Given the description of an element on the screen output the (x, y) to click on. 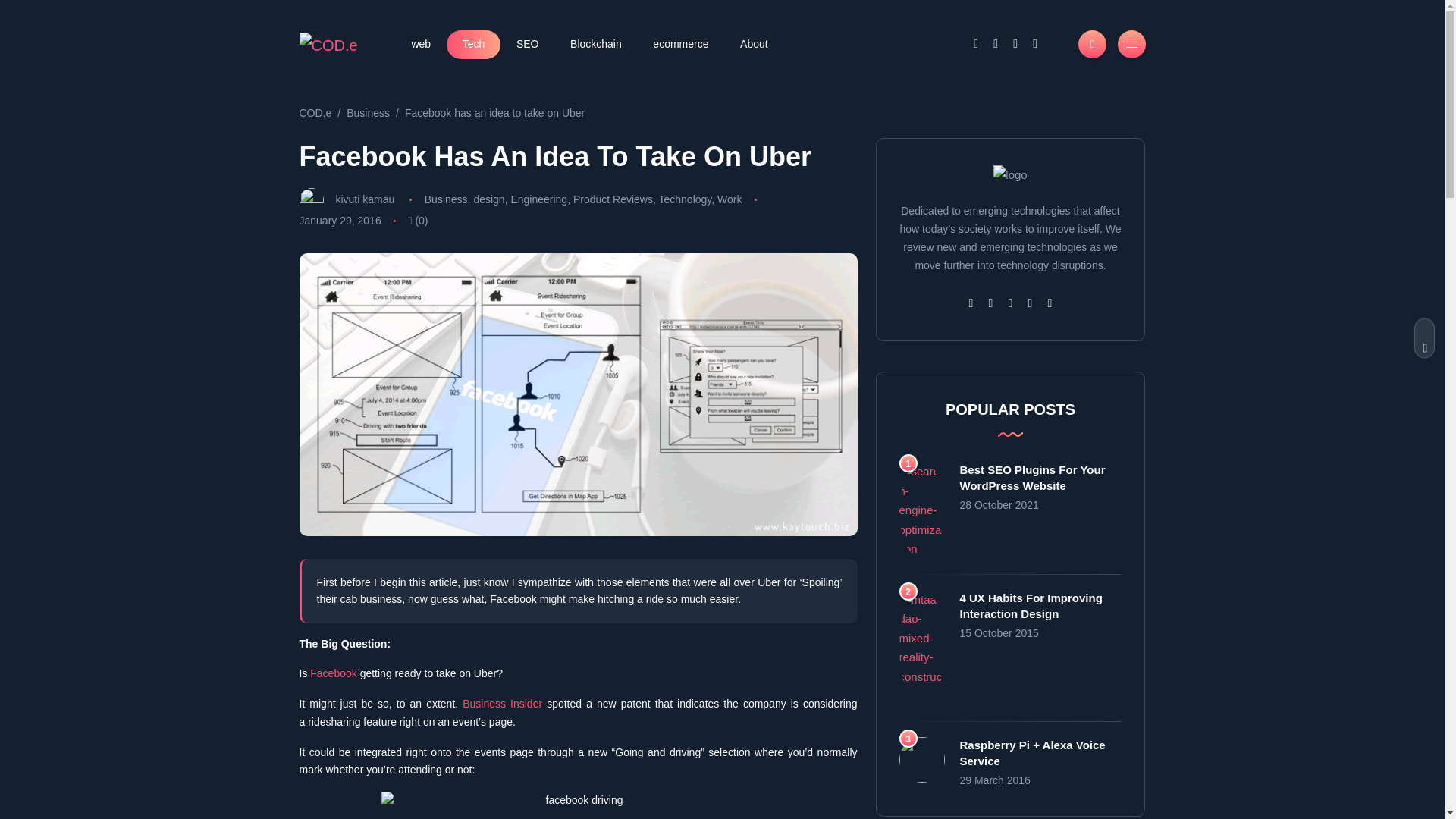
design (488, 199)
SEO (527, 44)
Technology (685, 199)
Go to COD.e. (314, 112)
kivuti kamau (364, 199)
About (753, 44)
Tech (473, 44)
ecommerce (681, 44)
COD.e (314, 112)
Work (729, 199)
